Given the description of an element on the screen output the (x, y) to click on. 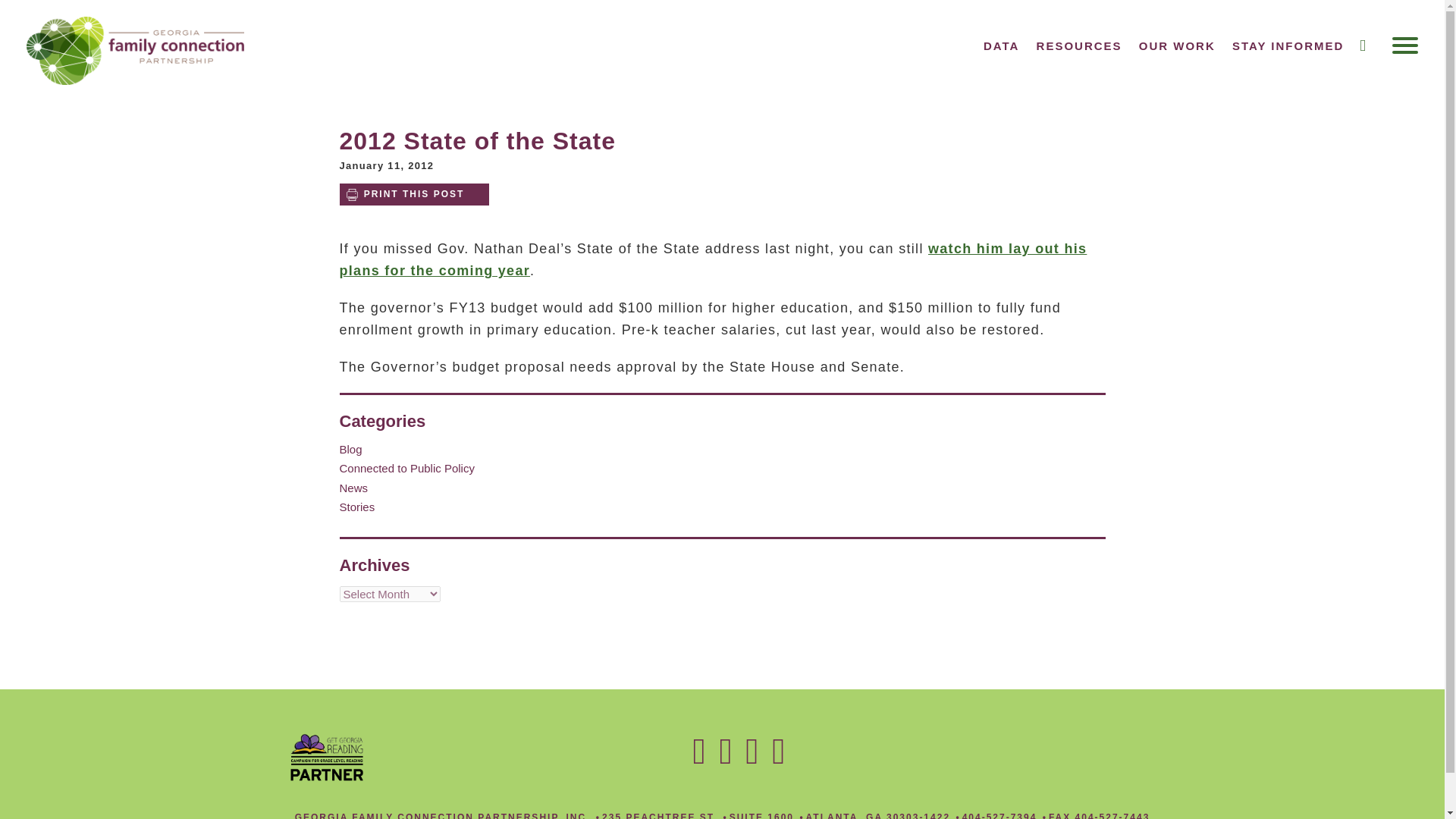
OUR WORK (1176, 45)
Data (1001, 45)
Resources (1079, 45)
DATA (1001, 45)
STAY INFORMED (1287, 45)
STAY INFORMED (1287, 45)
RESOURCES (1079, 45)
Our Work (1176, 45)
